Given the description of an element on the screen output the (x, y) to click on. 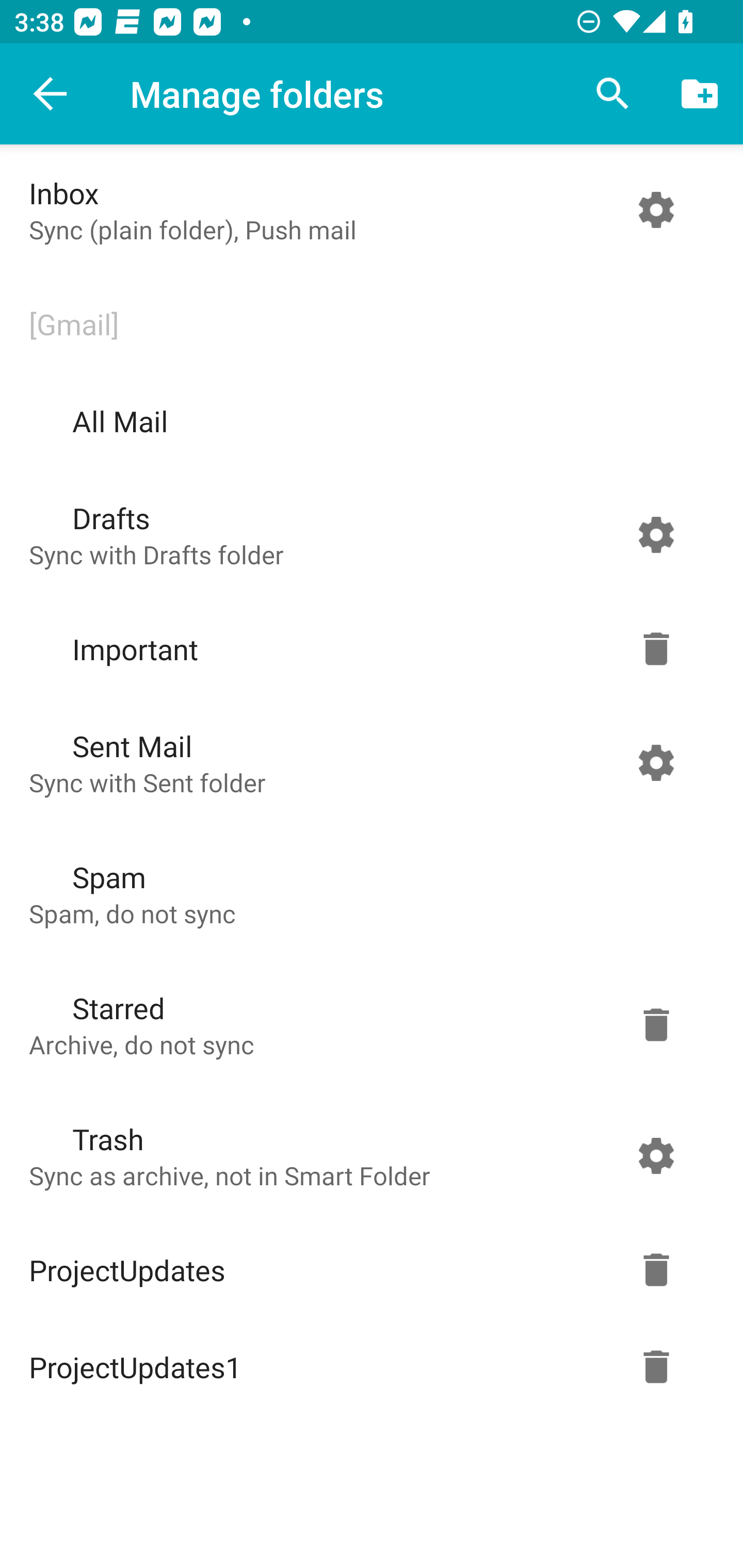
Navigate up (50, 93)
Search folders (612, 93)
Create folder (699, 93)
Folder settings (655, 209)
All Mail (367, 420)
Drafts Sync with Drafts folder Folder settings (367, 534)
Folder settings (655, 534)
Important Folder settings (367, 648)
Folder settings (655, 648)
Sent Mail Sync with Sent folder Folder settings (367, 762)
Folder settings (655, 762)
Spam Spam, do not sync (367, 893)
Starred Archive, do not sync Folder settings (367, 1024)
Folder settings (655, 1024)
Folder settings (655, 1155)
ProjectUpdates Folder settings (367, 1269)
Folder settings (655, 1269)
ProjectUpdates1 Folder settings (367, 1366)
Folder settings (655, 1366)
